Given the description of an element on the screen output the (x, y) to click on. 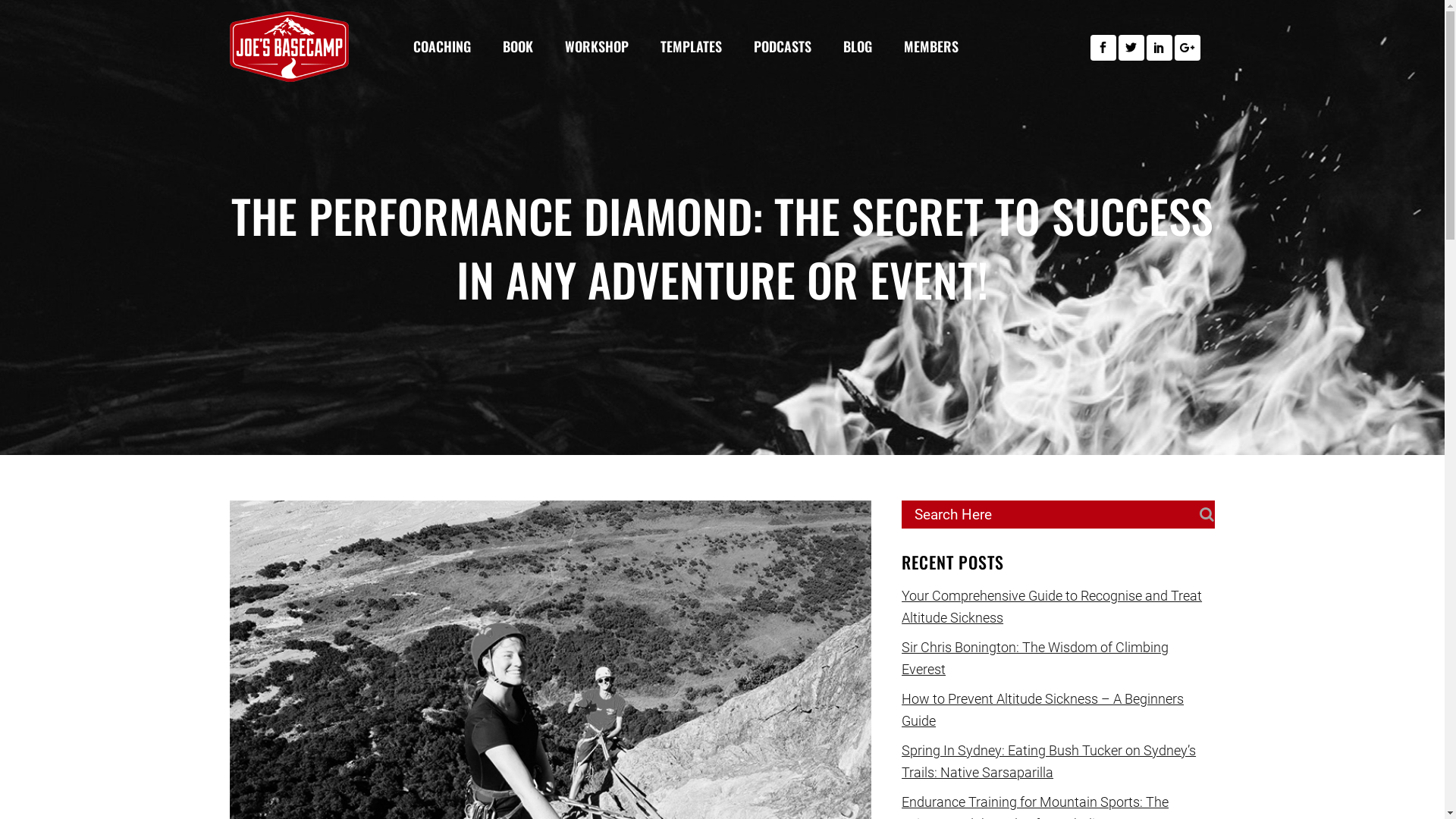
TEMPLATES Element type: text (685, 46)
MEMBERS Element type: text (926, 46)
COACHING Element type: text (436, 46)
WORKSHOP Element type: text (591, 46)
BLOG Element type: text (853, 46)
Sir Chris Bonington: The Wisdom of Climbing Everest Element type: text (1034, 658)
BOOK Element type: text (512, 46)
PODCASTS Element type: text (777, 46)
